Given the description of an element on the screen output the (x, y) to click on. 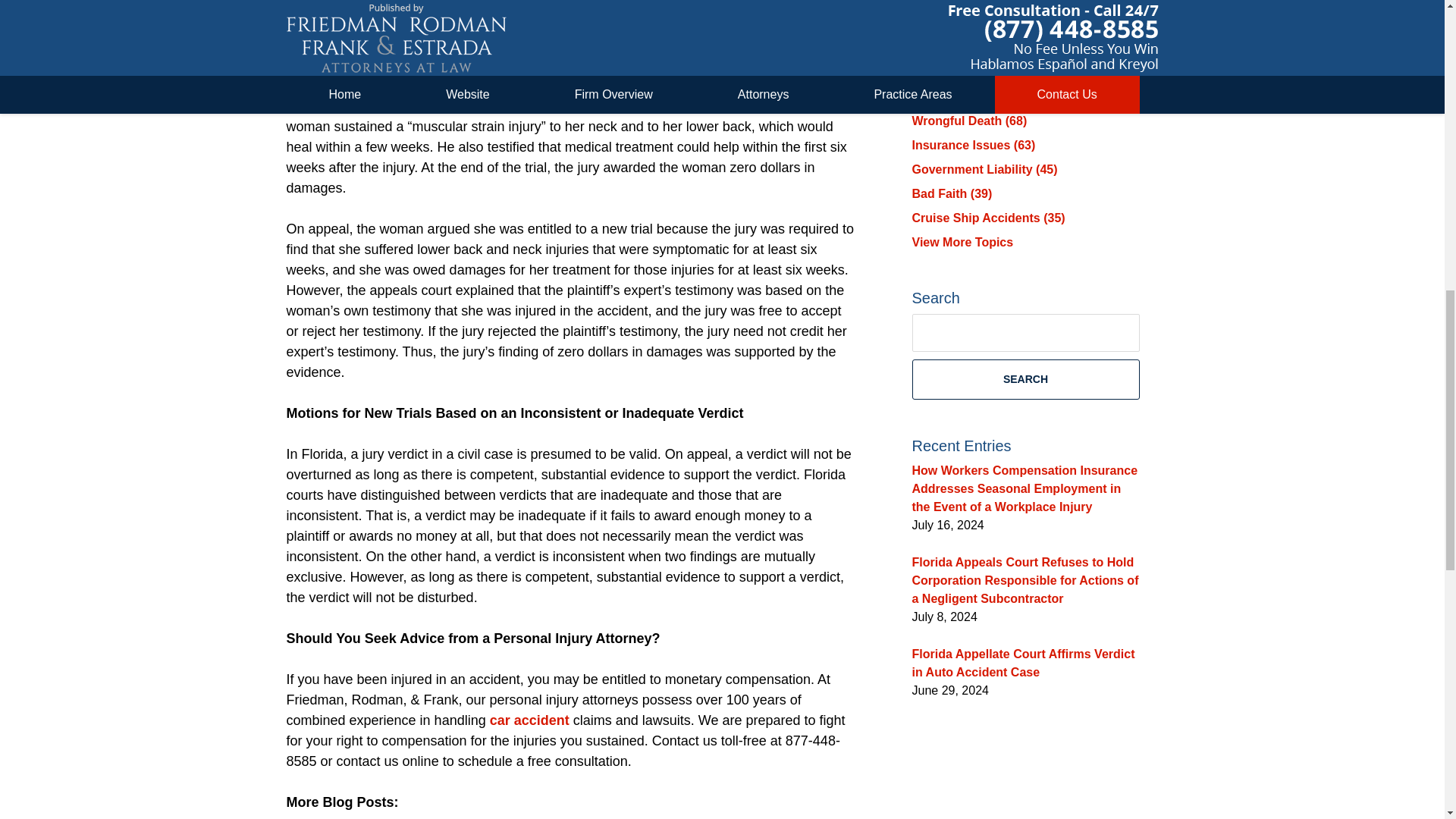
car accident (529, 720)
